Given the description of an element on the screen output the (x, y) to click on. 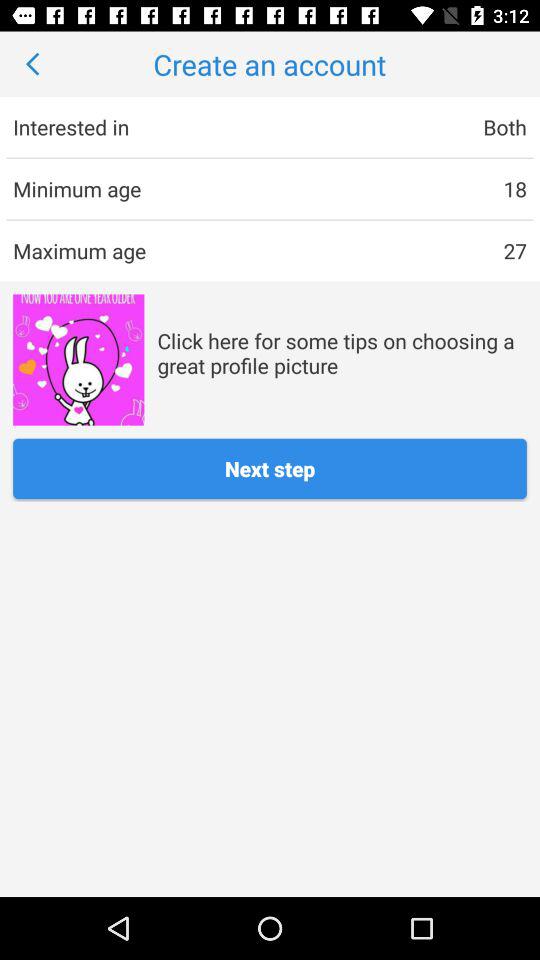
choose item on the left (78, 359)
